Given the description of an element on the screen output the (x, y) to click on. 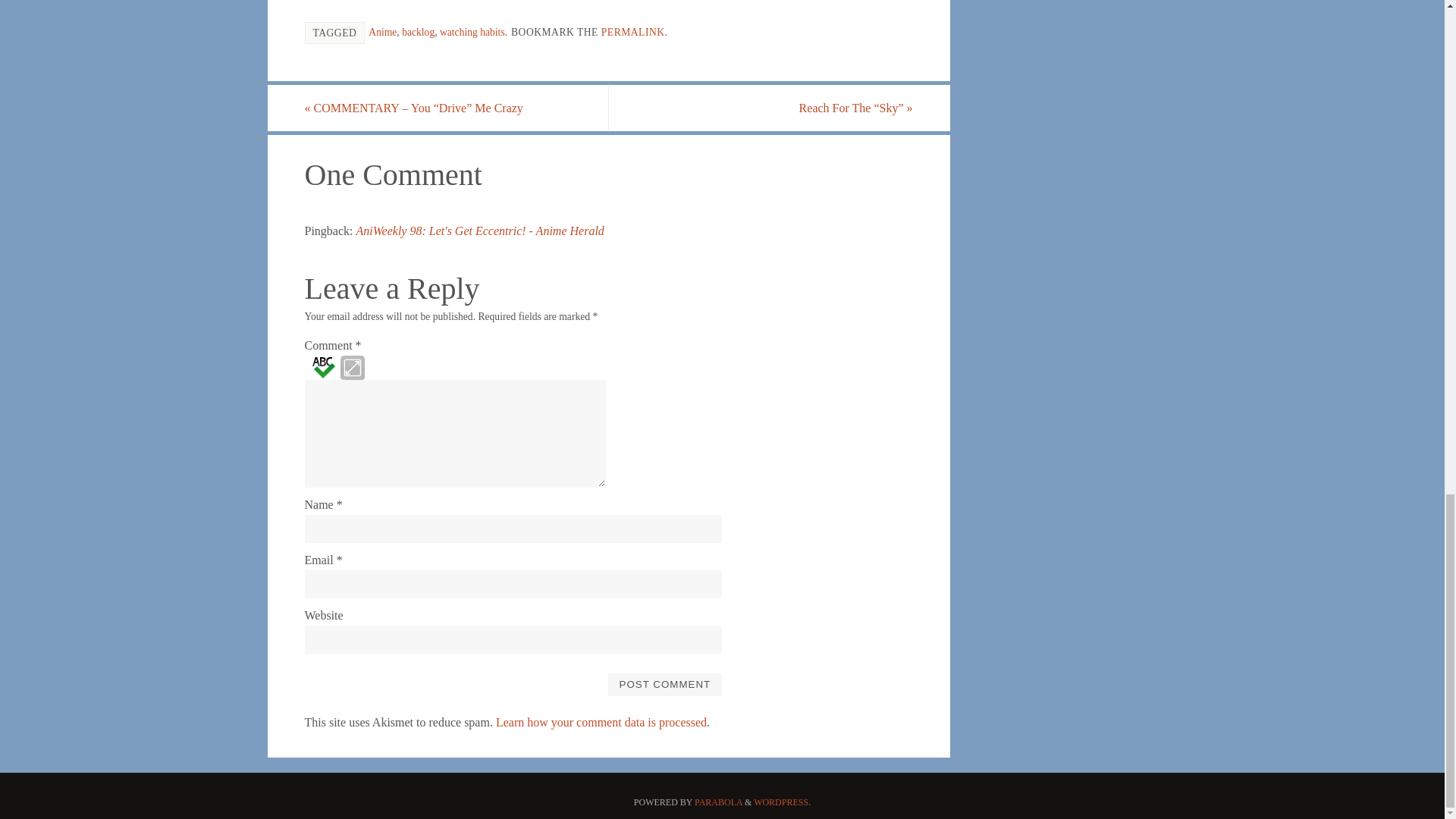
Semantic Personal Publishing Platform (782, 801)
AniWeekly 98: Let's Get Eccentric! - Anime Herald (480, 230)
PERMALINK (633, 31)
Learn how your comment data is processed (601, 721)
Anime (382, 31)
PARABOLA (718, 801)
WORDPRESS. (782, 801)
Post Comment (664, 683)
Parabola Theme by Cryout Creations (718, 801)
